Given the description of an element on the screen output the (x, y) to click on. 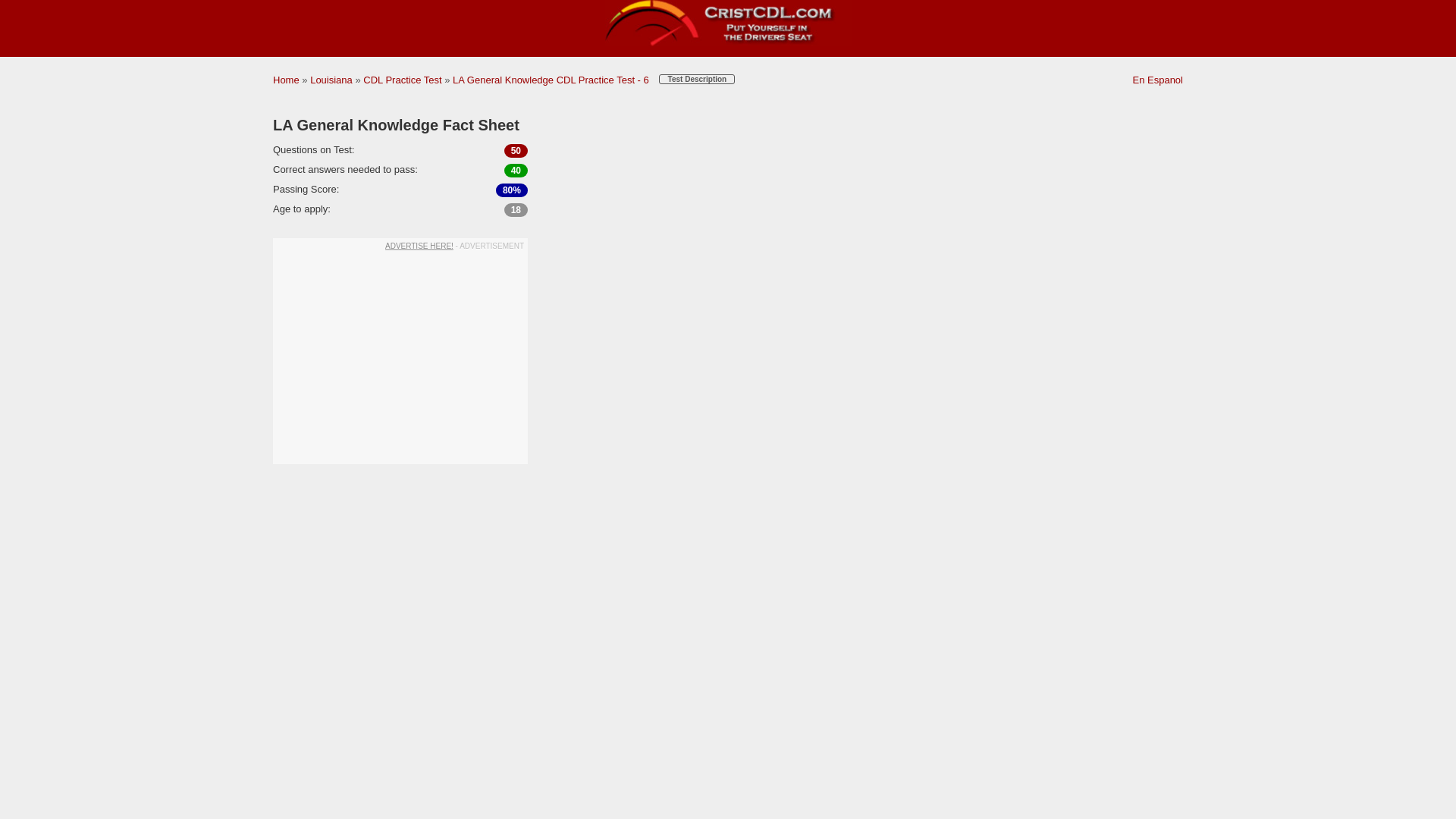
Louisiana (331, 79)
Test Description (697, 79)
En Espanol (1157, 79)
ADVERTISE HERE! (418, 245)
LA General Knowledge CDL Practice Test - 6 (550, 79)
Louisiana (331, 79)
Home (286, 79)
CDL Practice Test (401, 79)
LA General Knowledge CDL Practice Test - 6 (550, 79)
CDL Practice Test (401, 79)
CristCDL.com Homepage (728, 42)
Home (286, 79)
